Given the description of an element on the screen output the (x, y) to click on. 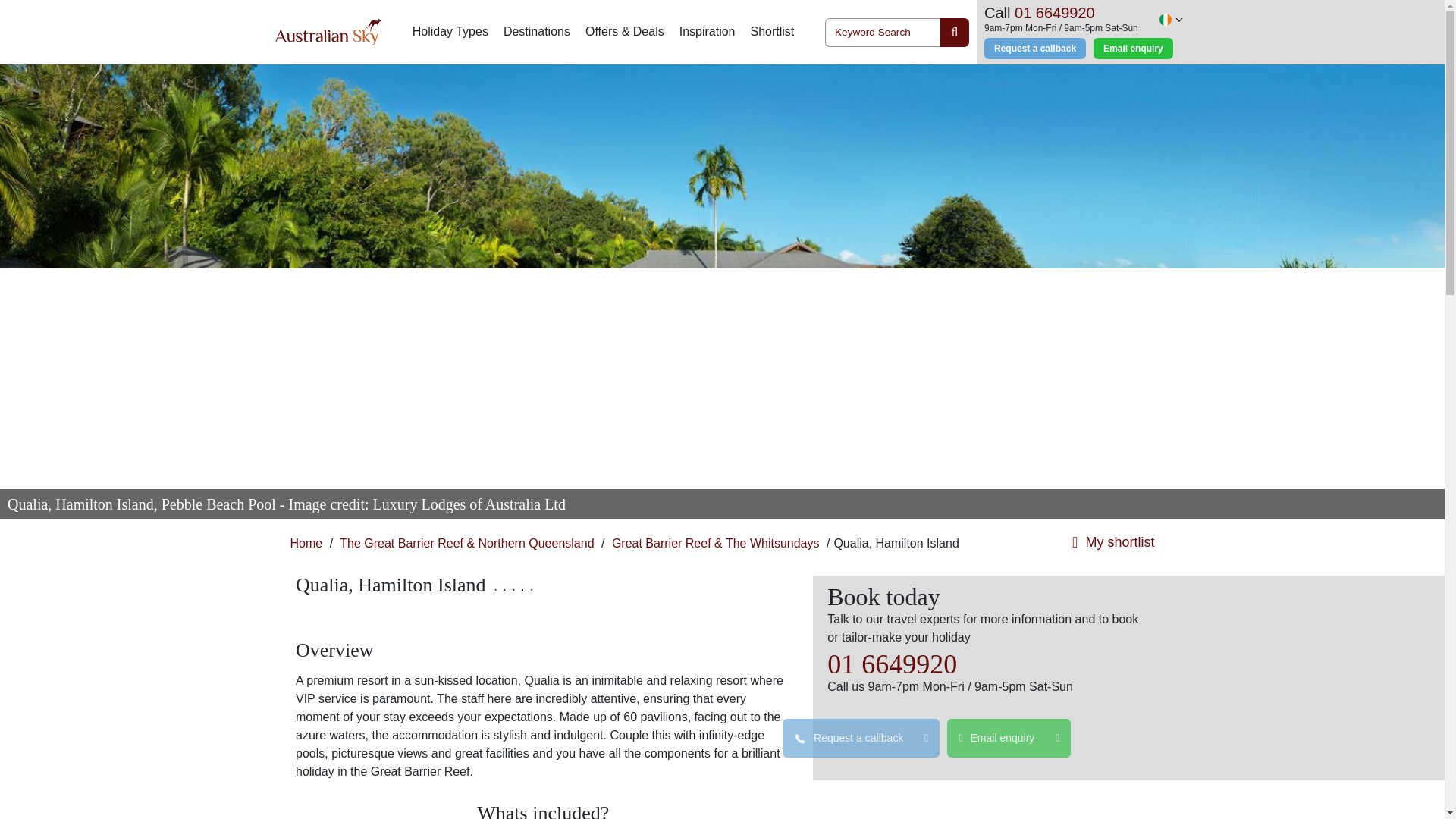
Holiday Types (450, 32)
Australian Sky (328, 31)
Destinations (537, 32)
